Given the description of an element on the screen output the (x, y) to click on. 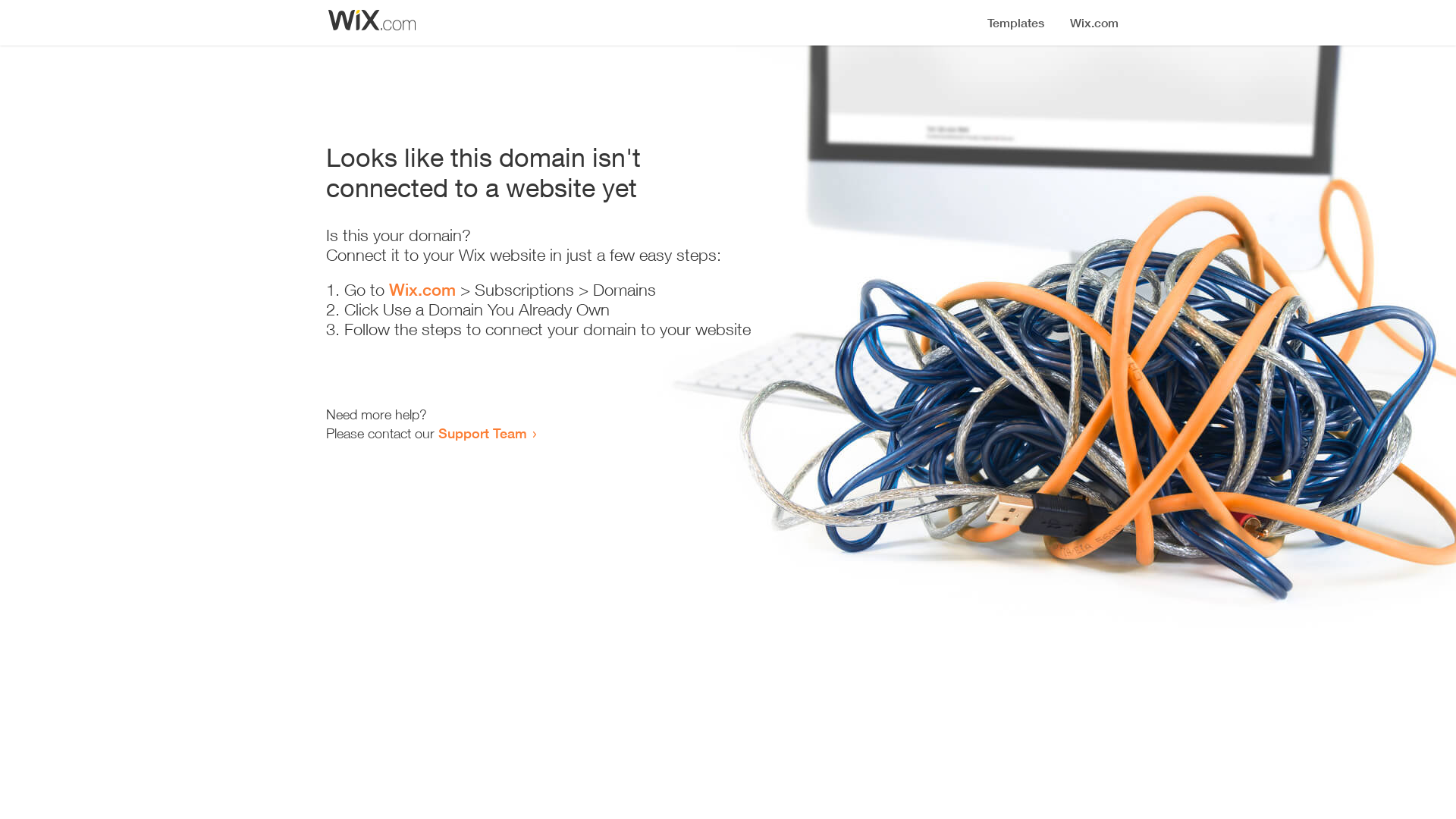
Support Team Element type: text (482, 432)
Wix.com Element type: text (422, 289)
